Given the description of an element on the screen output the (x, y) to click on. 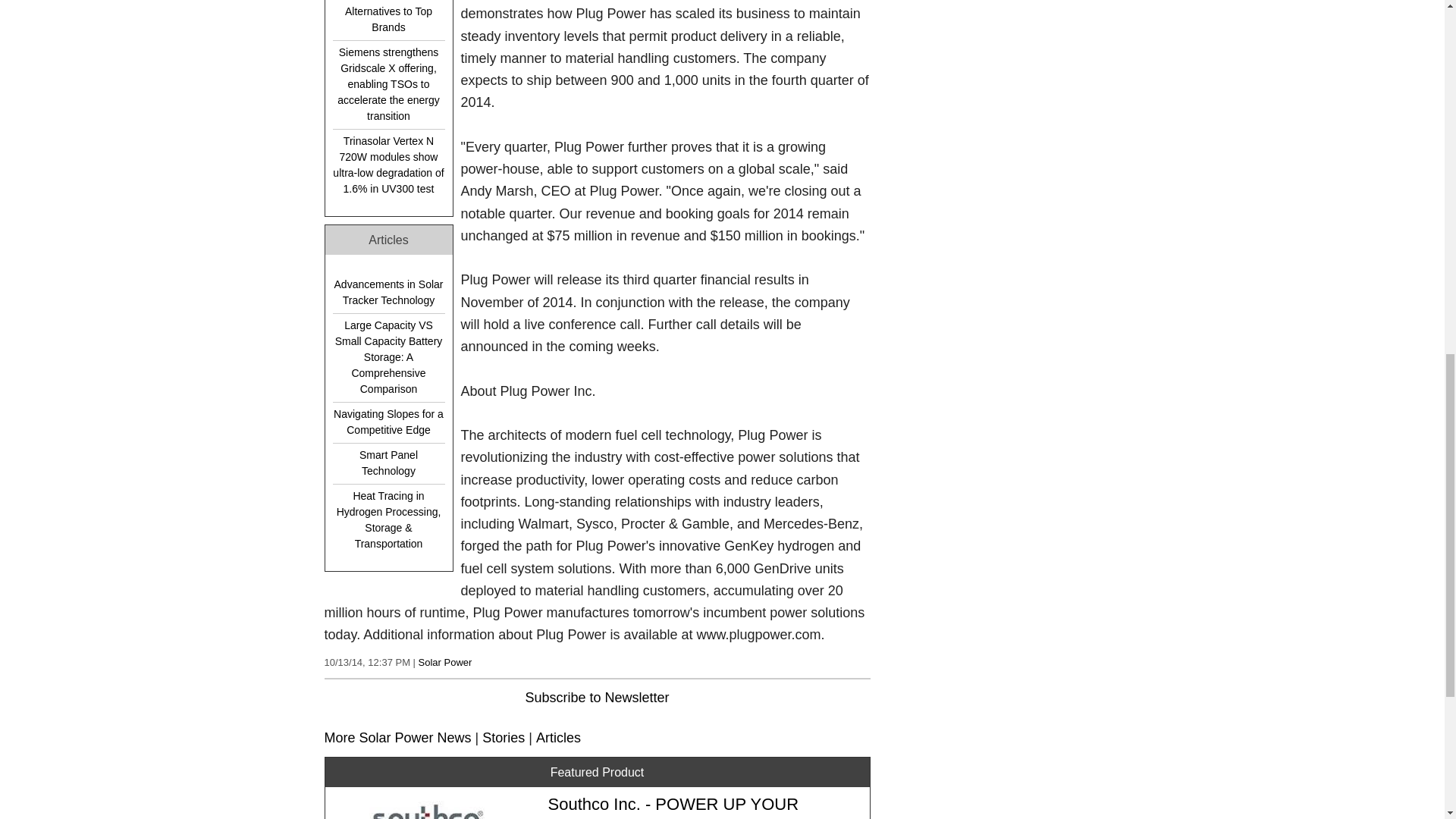
Navigating Slopes for a Competitive Edge (387, 422)
Subscribe to Newsletter (596, 697)
Articles (557, 737)
Smart Panel Technology (387, 463)
Advancements in Solar Tracker Technology (387, 292)
More Solar Power News (397, 737)
Stories (502, 737)
Solar Power (445, 662)
